Given the description of an element on the screen output the (x, y) to click on. 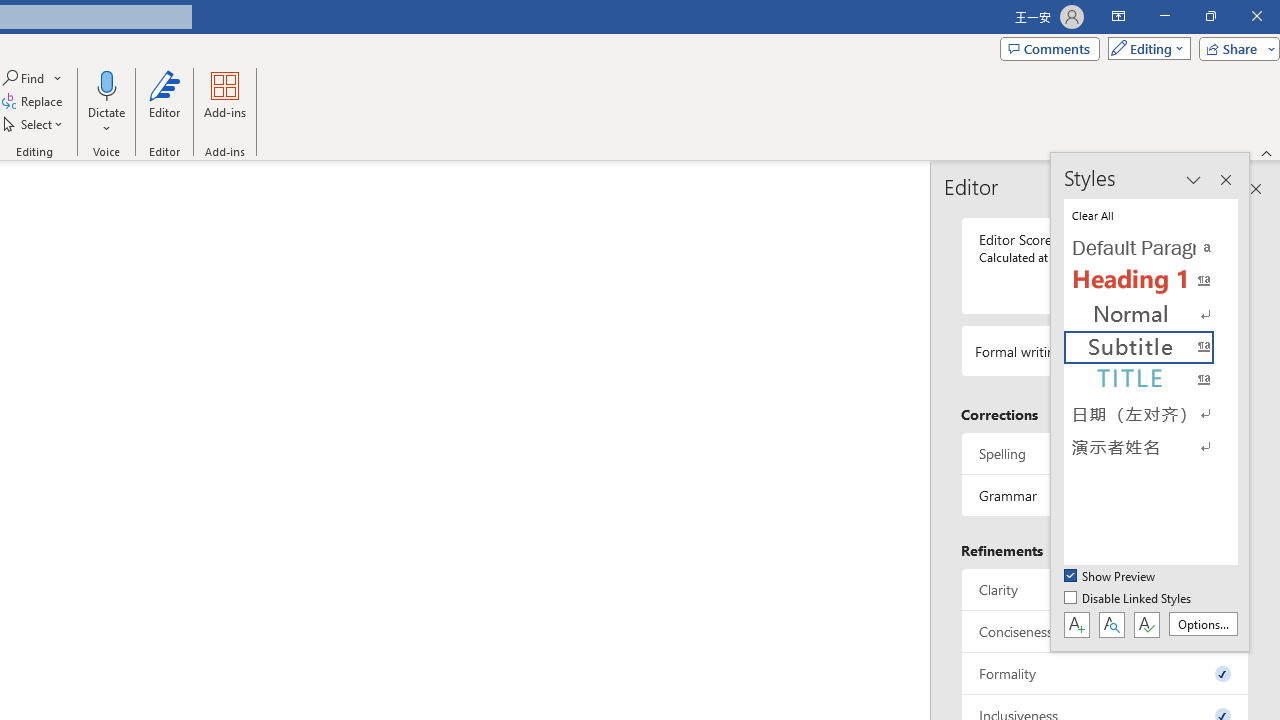
Grammar, 1 issue. Press space or enter to review items. (1105, 495)
Show Preview (1110, 577)
Spelling, 0 issues. Press space or enter to review items. (1105, 452)
Clarity, 0 issues. Press space or enter to review items. (1105, 588)
Default Paragraph Font (1150, 247)
Class: NetUIButton (1146, 624)
